Given the description of an element on the screen output the (x, y) to click on. 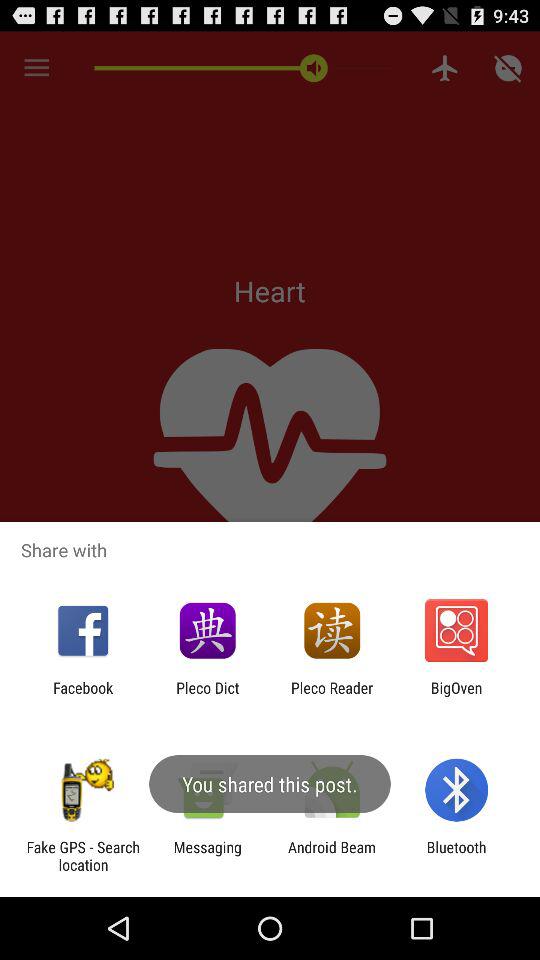
launch app to the left of android beam item (207, 856)
